Given the description of an element on the screen output the (x, y) to click on. 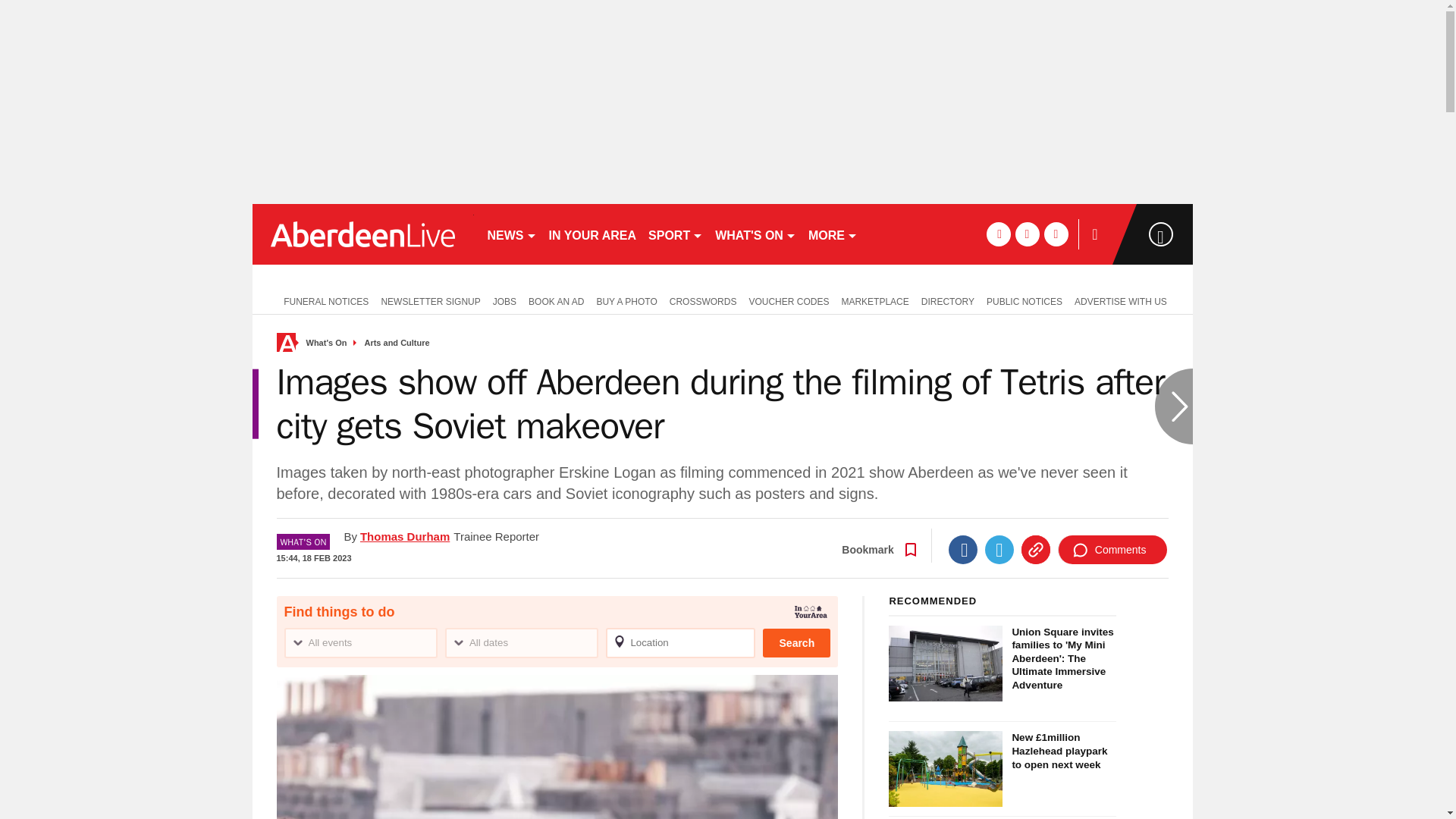
instagram (1055, 233)
Comments (1112, 549)
BOOK AN AD (555, 300)
Twitter (999, 549)
Facebook (962, 549)
aberdeenlive (362, 233)
BUY A PHOTO (625, 300)
FUNERAL NOTICES (322, 300)
WHAT'S ON (755, 233)
NEWSLETTER SIGNUP (430, 300)
facebook (997, 233)
IN YOUR AREA (593, 233)
NEWS (510, 233)
MORE (832, 233)
SPORT (675, 233)
